Given the description of an element on the screen output the (x, y) to click on. 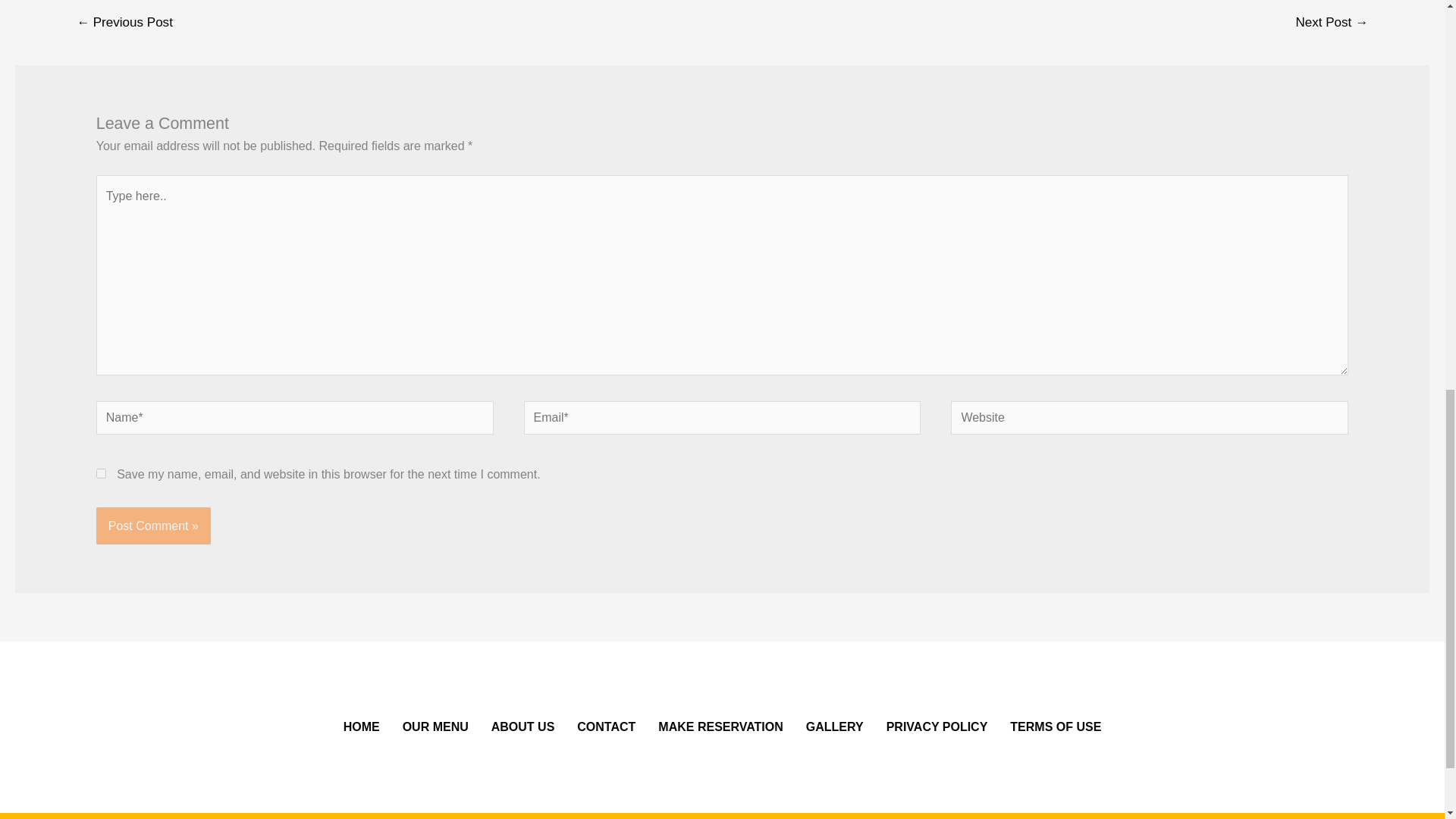
PRIVACY POLICY (936, 727)
ABOUT US (523, 727)
OUR MENU (435, 727)
yes (101, 473)
MAKE RESERVATION (719, 727)
GALLERY (834, 727)
CONTACT (606, 727)
HOME (361, 727)
TERMS OF USE (1055, 727)
